Given the description of an element on the screen output the (x, y) to click on. 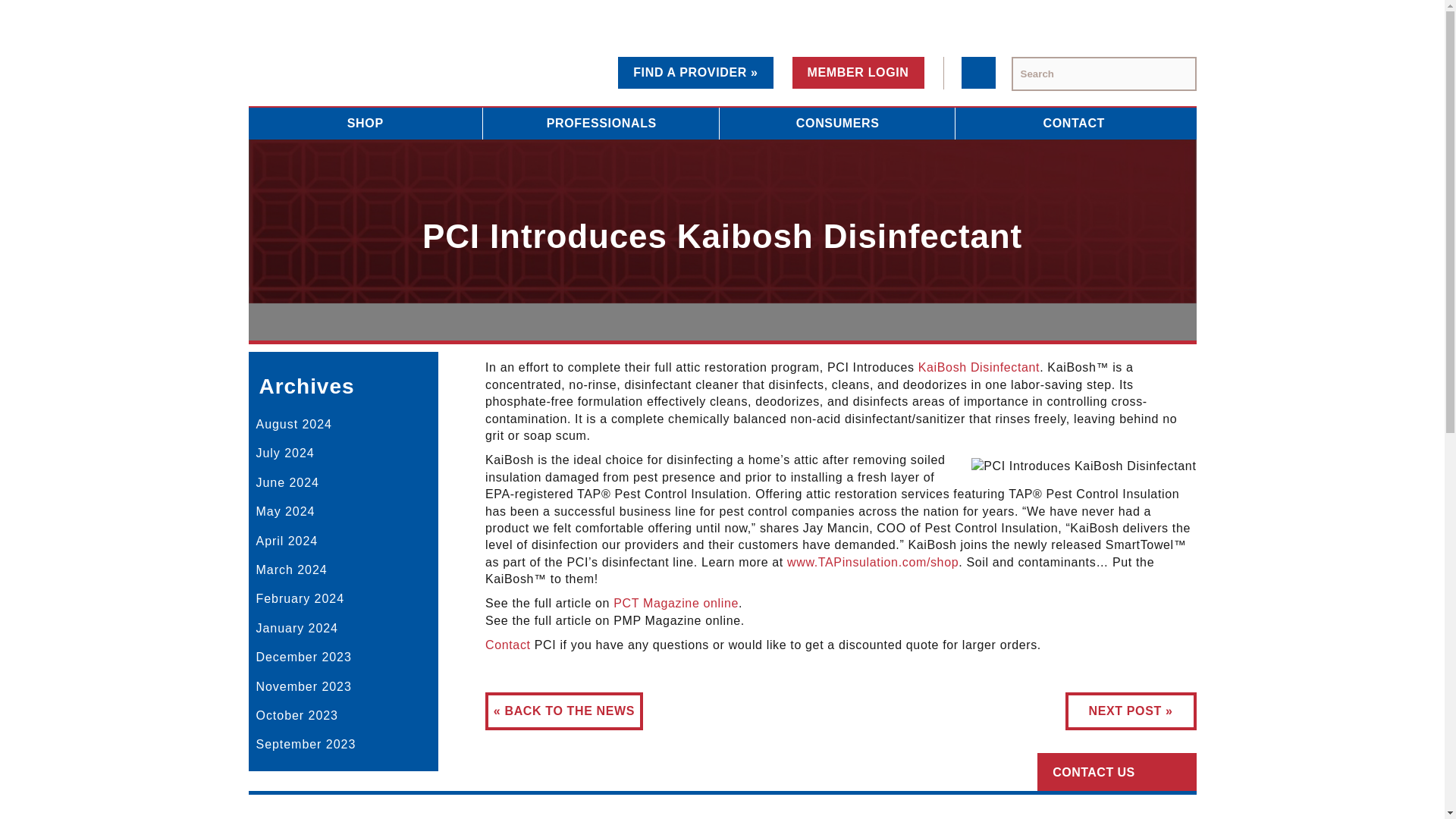
SIGN UP (899, 731)
Search (1177, 73)
Search (1177, 73)
